Given the description of an element on the screen output the (x, y) to click on. 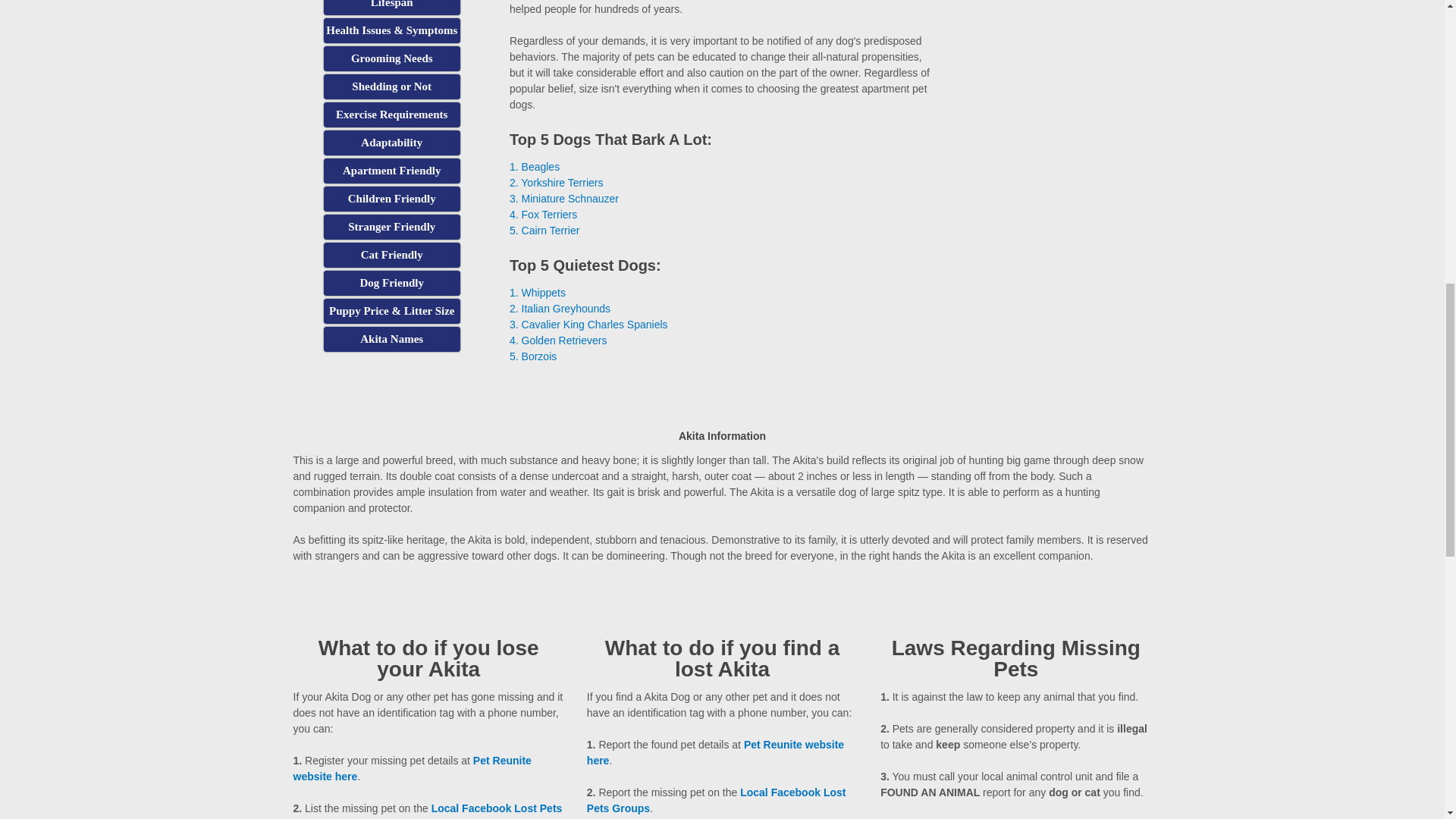
What is the lifespan of Akita Dogs? (391, 7)
Can Akita Dogs live in apartments? (391, 170)
Do Akita Dogs shed a lot? (391, 86)
Do Akita Dogs needs lot of looking after? (391, 58)
What are the common health issues with Akita Dogs? (391, 30)
Are Akita Dogs easy to adapt? (391, 142)
Do Akita Dogs need lots of exercise? (391, 114)
